Given the description of an element on the screen output the (x, y) to click on. 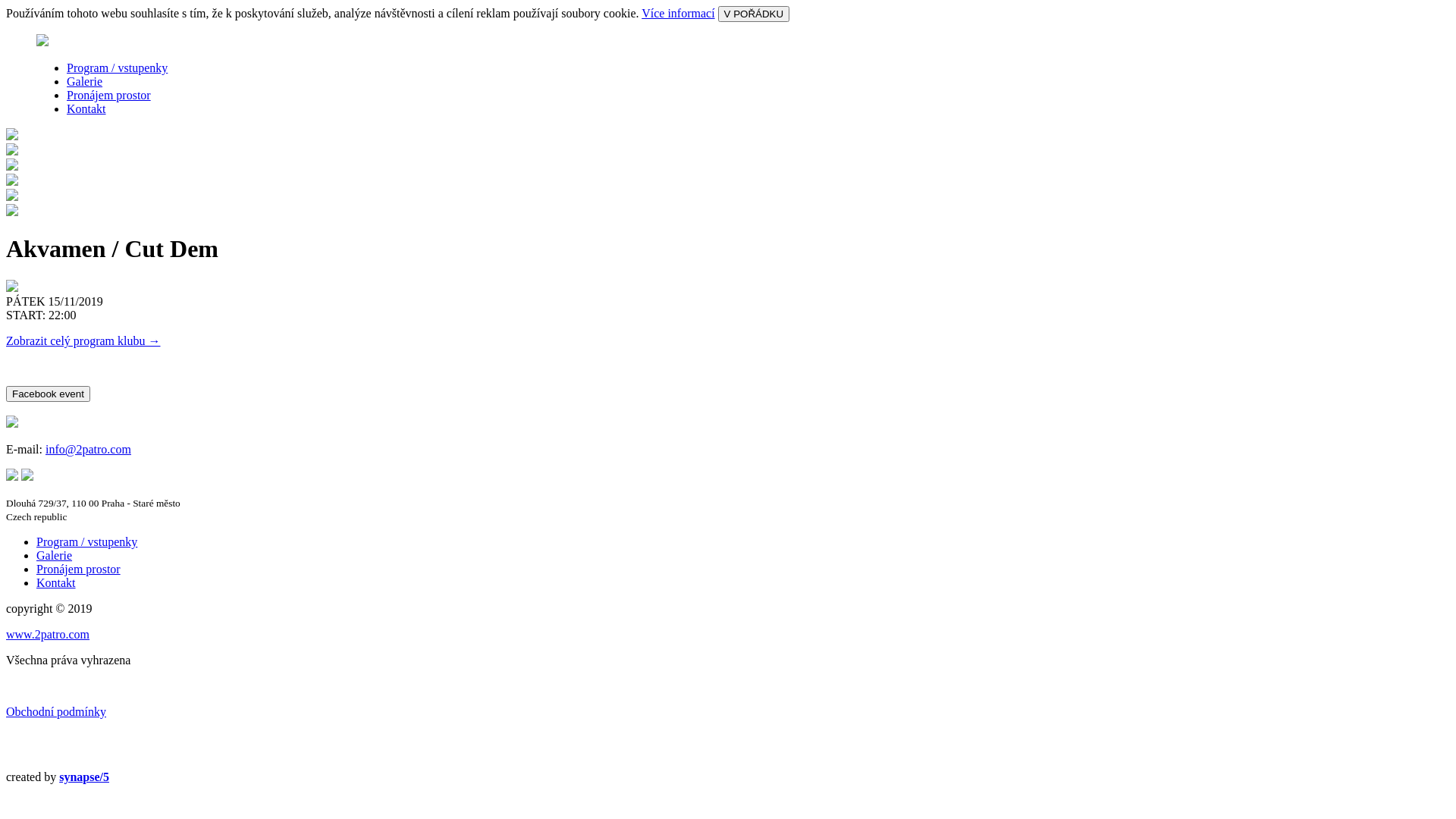
Facebook event Element type: text (48, 392)
Galerie Element type: text (84, 81)
Galerie Element type: text (54, 555)
info@2patro.com Element type: text (88, 448)
Facebook event Element type: text (48, 393)
synapse/5 Element type: text (84, 776)
Kontakt Element type: text (86, 108)
Kontakt Element type: text (55, 582)
www.2patro.com Element type: text (47, 633)
Program / vstupenky Element type: text (116, 67)
Program / vstupenky Element type: text (86, 541)
